Given the description of an element on the screen output the (x, y) to click on. 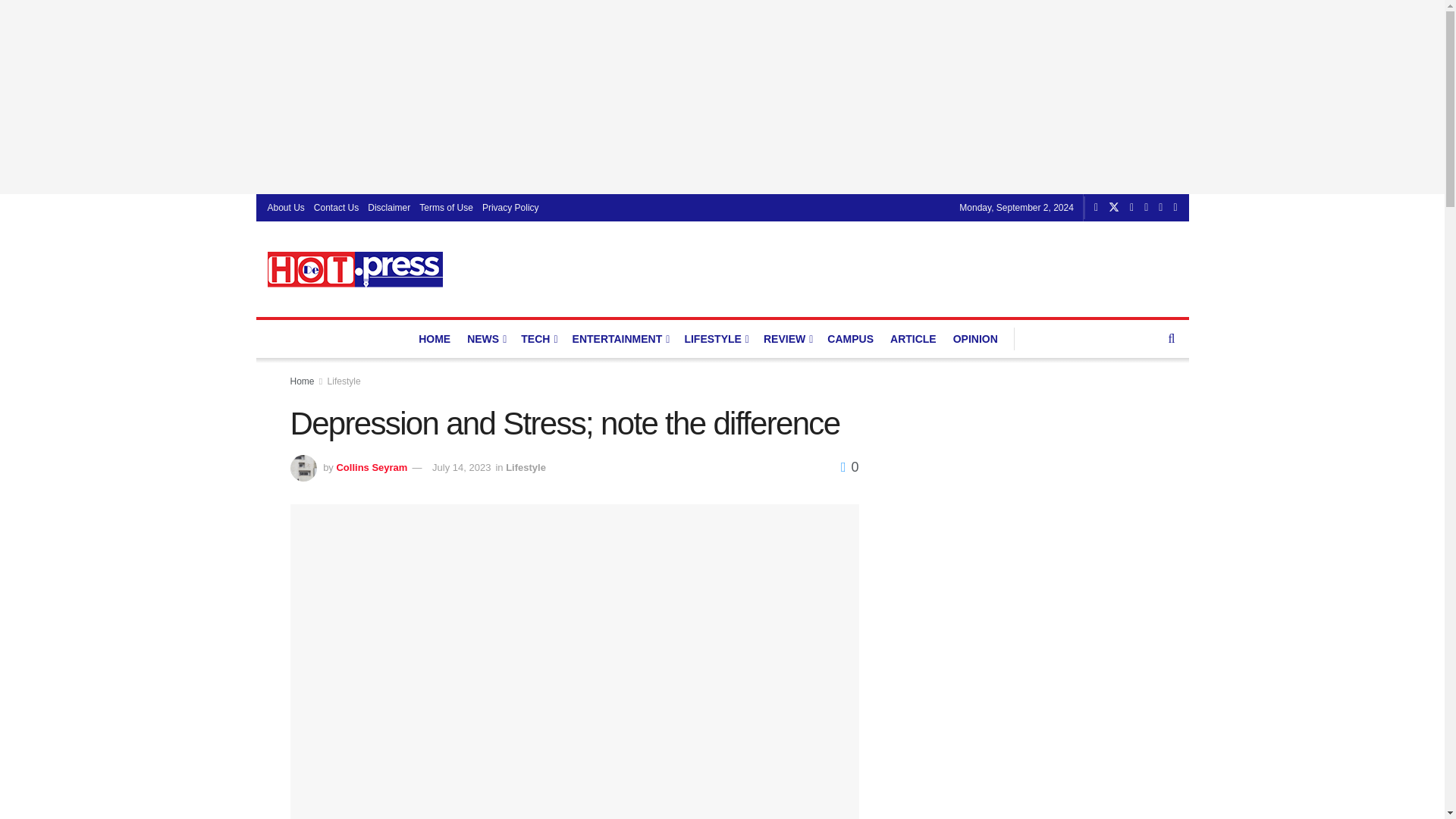
HOME (434, 338)
TECH (537, 338)
Contact Us (336, 207)
Privacy Policy (509, 207)
Terms of Use (446, 207)
Disclaimer (389, 207)
NEWS (485, 338)
About Us (285, 207)
